Given the description of an element on the screen output the (x, y) to click on. 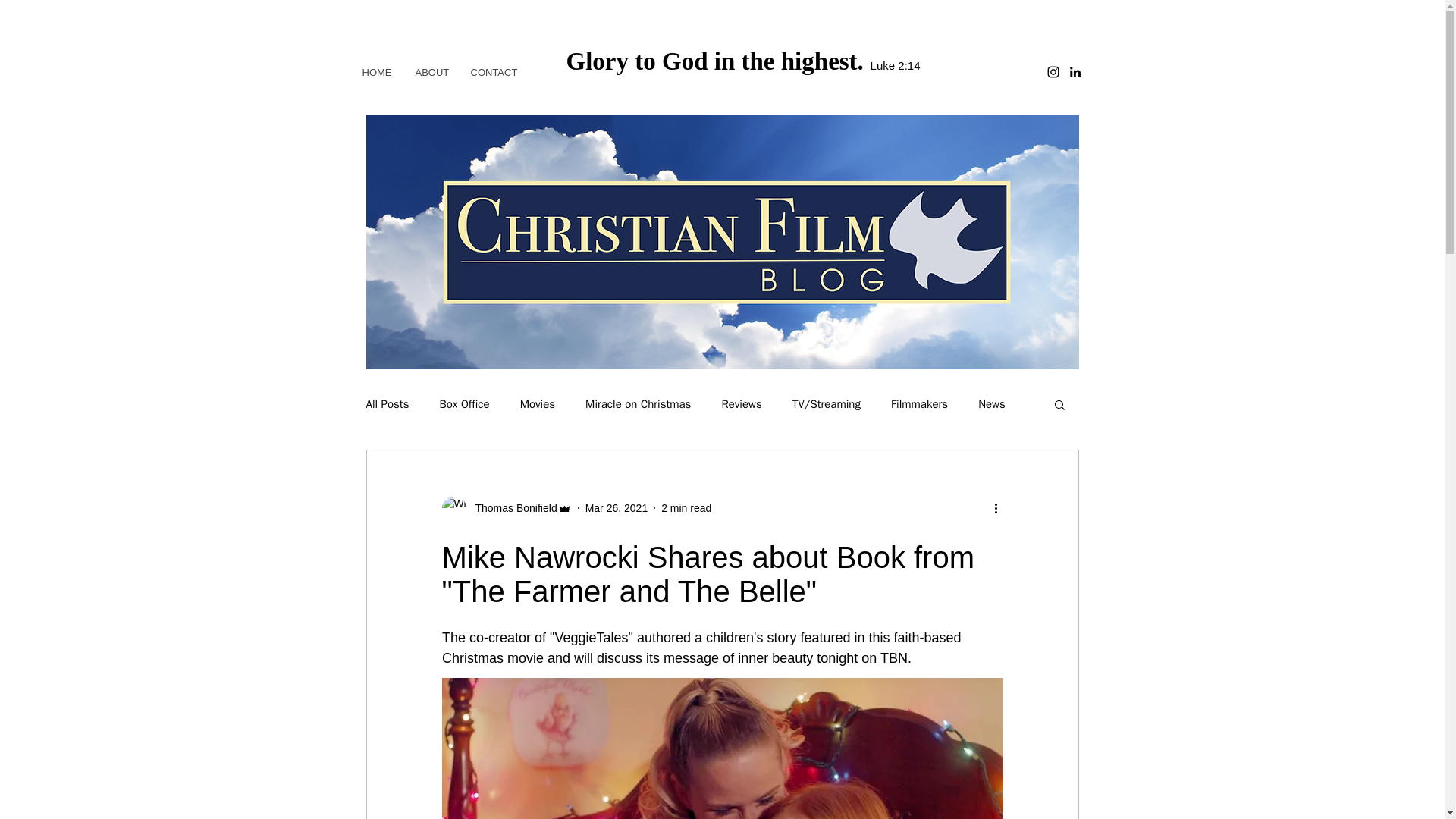
ABOUT (430, 71)
All Posts (387, 404)
Thomas Bonifield (510, 508)
Reviews (740, 404)
2 min read (686, 508)
HOME (376, 71)
Movies (536, 404)
Miracle on Christmas (637, 404)
Box Office (464, 404)
CONTACT (492, 71)
News (992, 404)
Filmmakers (919, 404)
Mar 26, 2021 (616, 508)
